Given the description of an element on the screen output the (x, y) to click on. 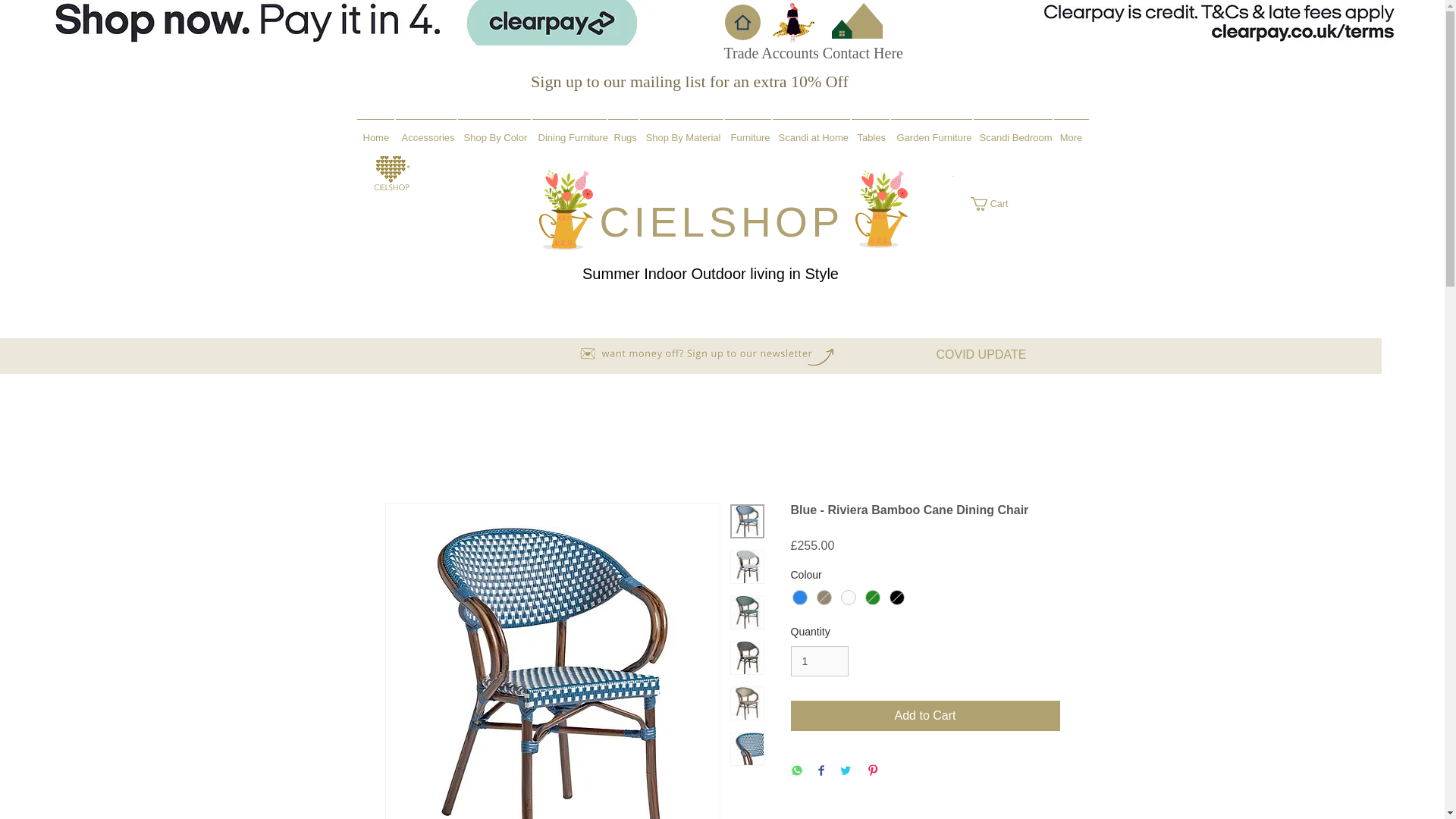
Accessories (425, 129)
Cart (996, 203)
Shop By Color (494, 129)
Home (375, 129)
Trade Accounts Contact Here (812, 53)
1 (818, 661)
Dining Furniture (569, 129)
